Given the description of an element on the screen output the (x, y) to click on. 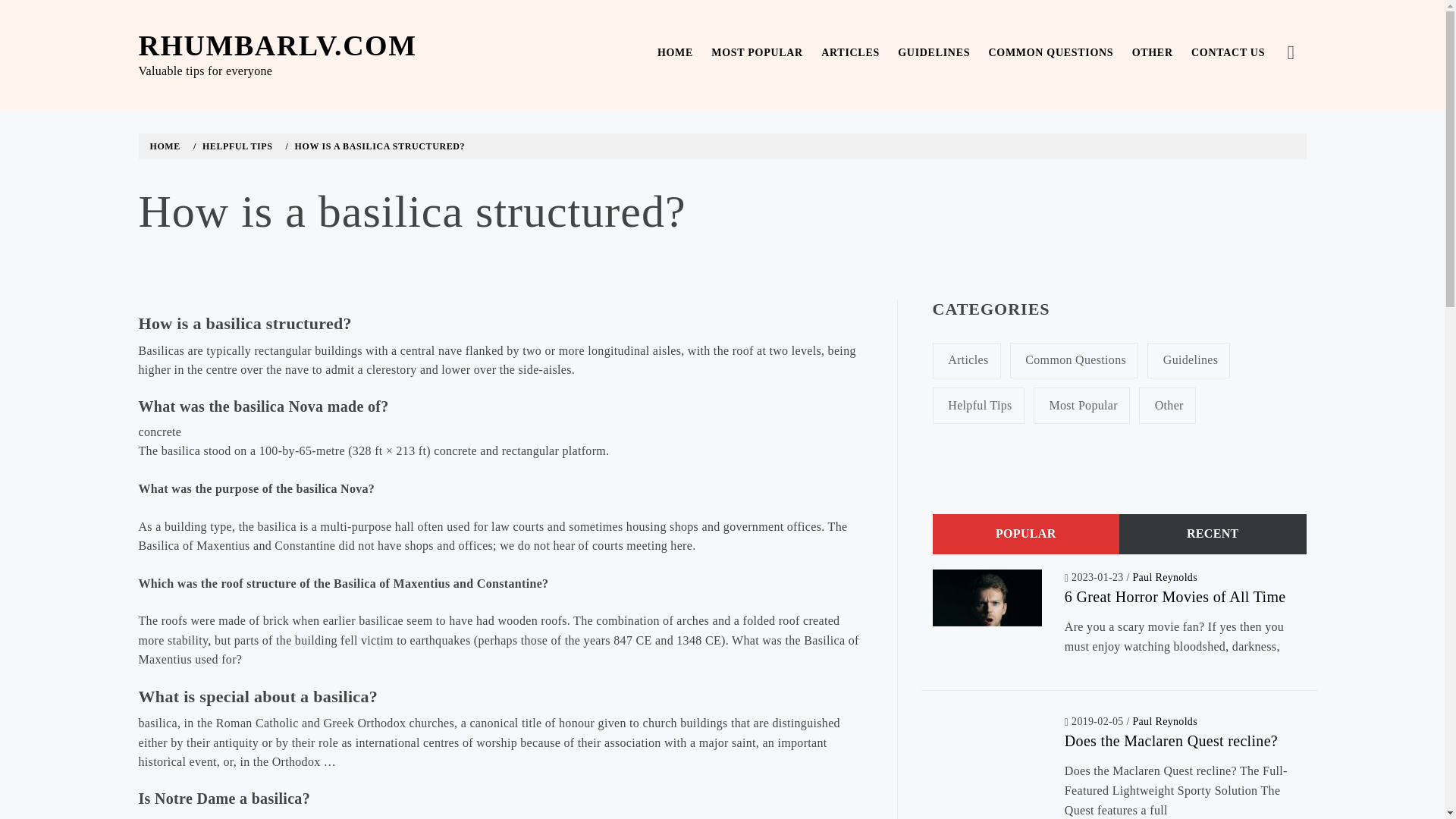
Paul Reynolds (1164, 721)
CONTACT US (1227, 53)
Most Popular (1081, 405)
COMMON QUESTIONS (1050, 53)
GUIDELINES (932, 53)
6 Great Horror Movies of All Time (1174, 596)
Does the Maclaren Quest recline? (1171, 740)
POPULAR (1026, 534)
Helpful Tips (979, 405)
OTHER (1152, 53)
